Given the description of an element on the screen output the (x, y) to click on. 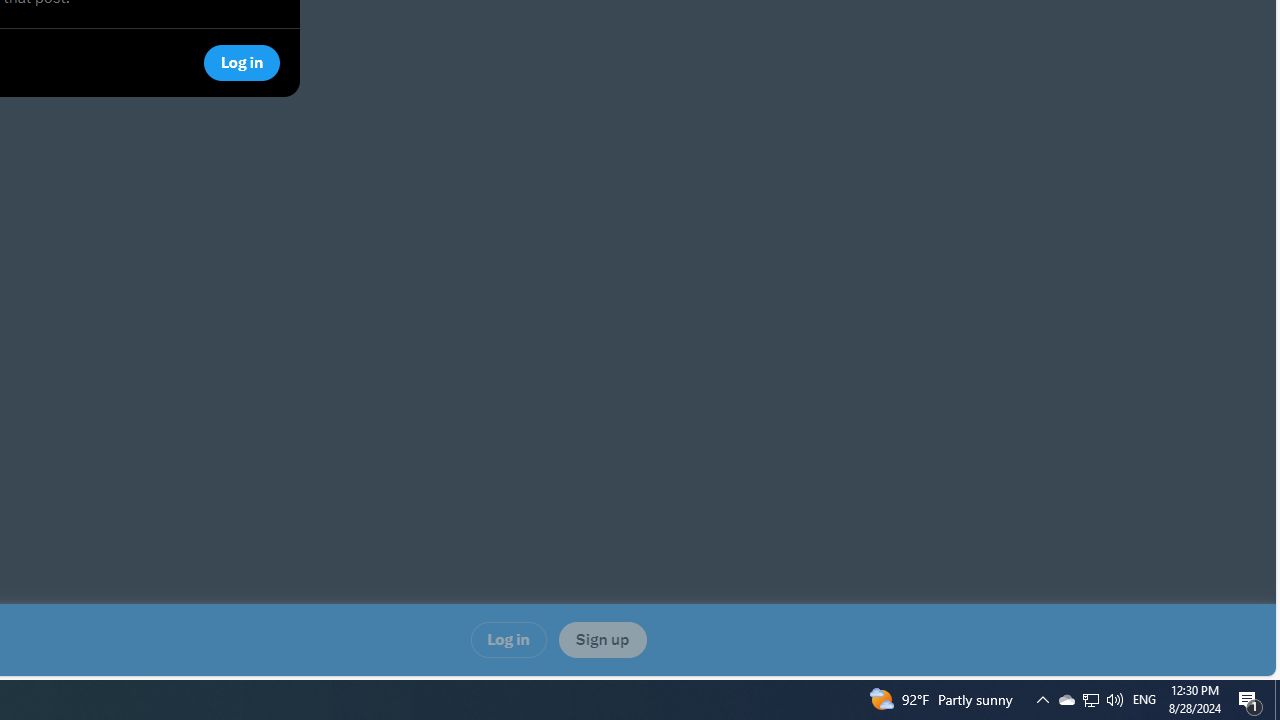
Action Center, 1 new notification (1250, 699)
Sign up (1091, 699)
User Promoted Notification Area (602, 640)
Show desktop (1090, 699)
Log in (1277, 699)
Tray Input Indicator - English (United States) (1066, 699)
Notification Chevron (507, 640)
Q2790: 100% (1144, 699)
